Given the description of an element on the screen output the (x, y) to click on. 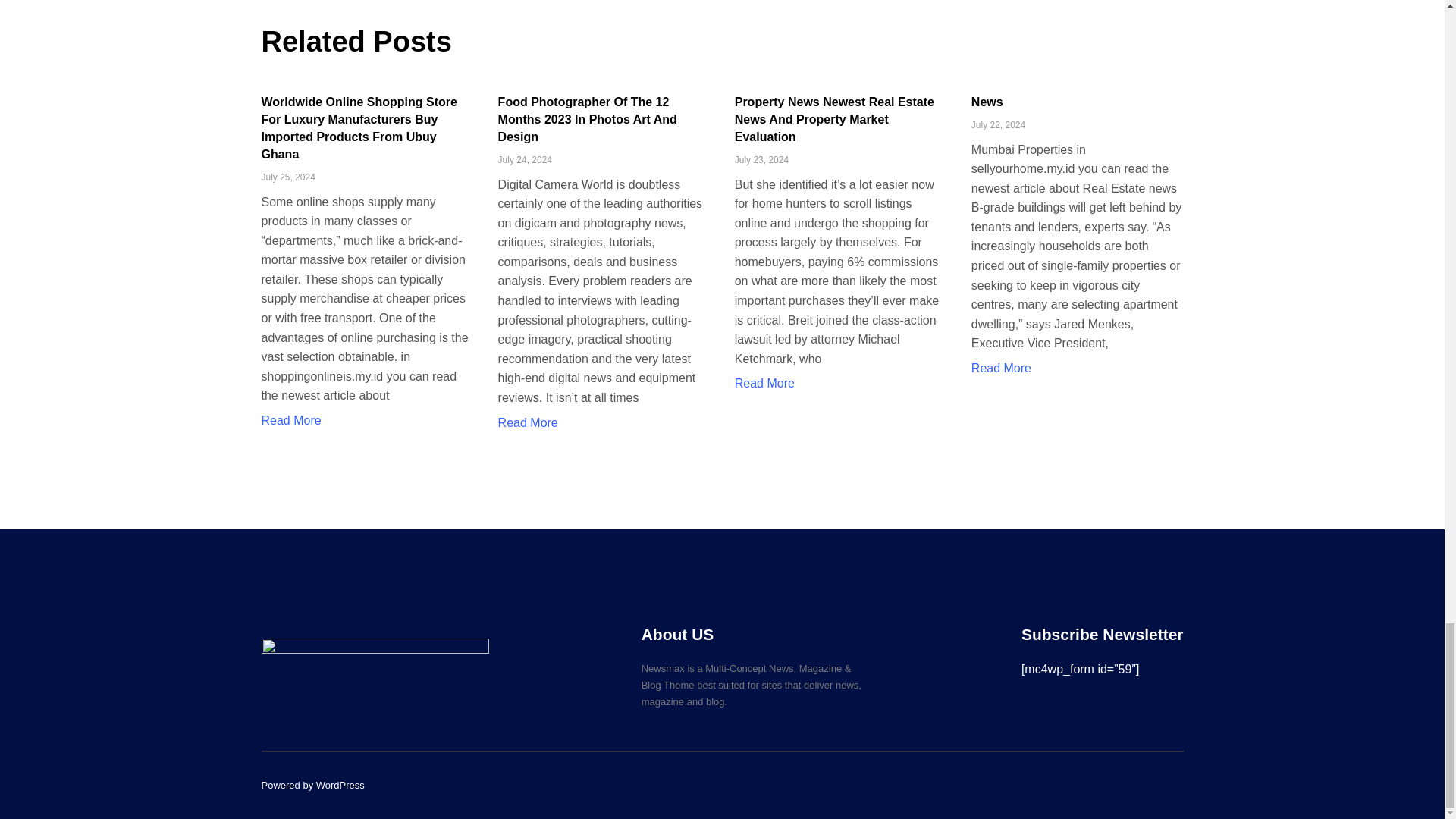
Read More (527, 422)
Read More (1000, 367)
Read More (764, 382)
Read More (290, 420)
News (987, 101)
